Given the description of an element on the screen output the (x, y) to click on. 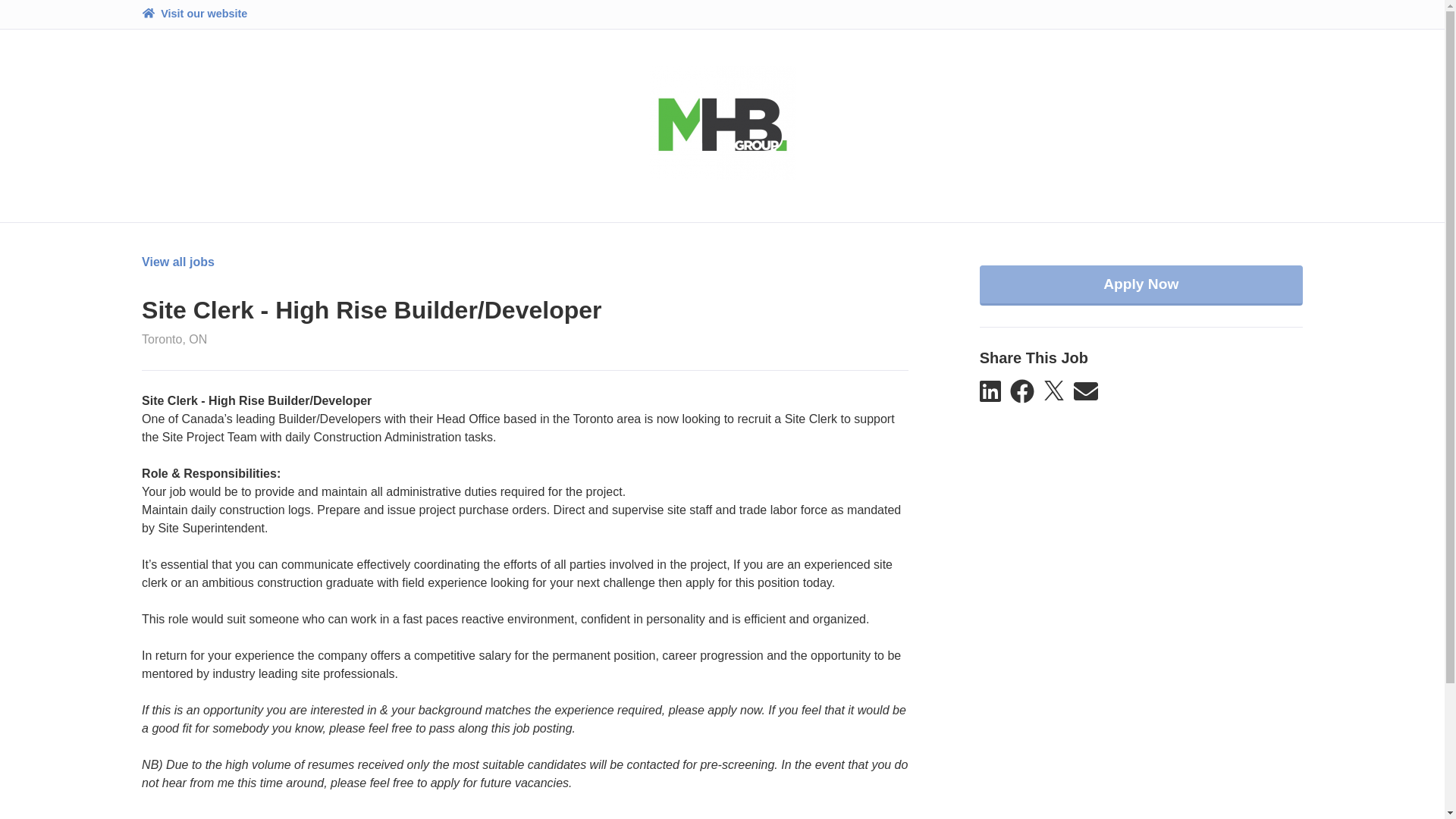
Visit our website (194, 13)
Apply Now (1141, 285)
View all jobs (177, 262)
